Given the description of an element on the screen output the (x, y) to click on. 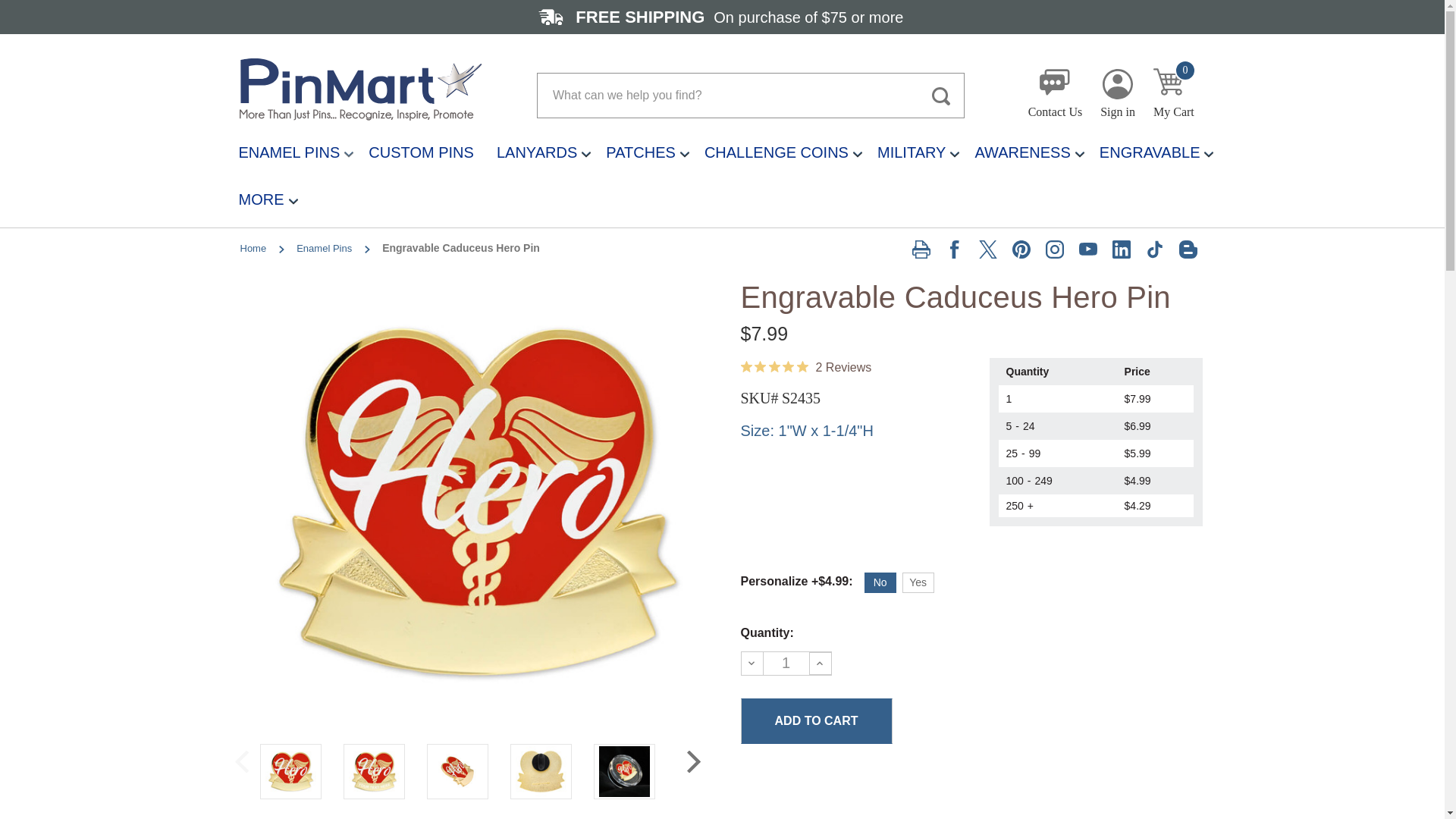
WordPress Blog (1186, 249)
Engravable Caduceus Hero Pin Box (623, 771)
2 Reviews (1174, 95)
Contact Us (804, 367)
Engravable Caduceus Hero Pin Back (1055, 95)
2025 (540, 771)
Engravable Caduceus Hero Pin Front (1117, 93)
1 (815, 720)
Engravable Caduceus Hero Pin Front (785, 662)
Caduceus Hero Pin Front Engraved Example (290, 771)
Engravable Caduceus Hero Pin Side (374, 771)
2026 (457, 771)
